Given the description of an element on the screen output the (x, y) to click on. 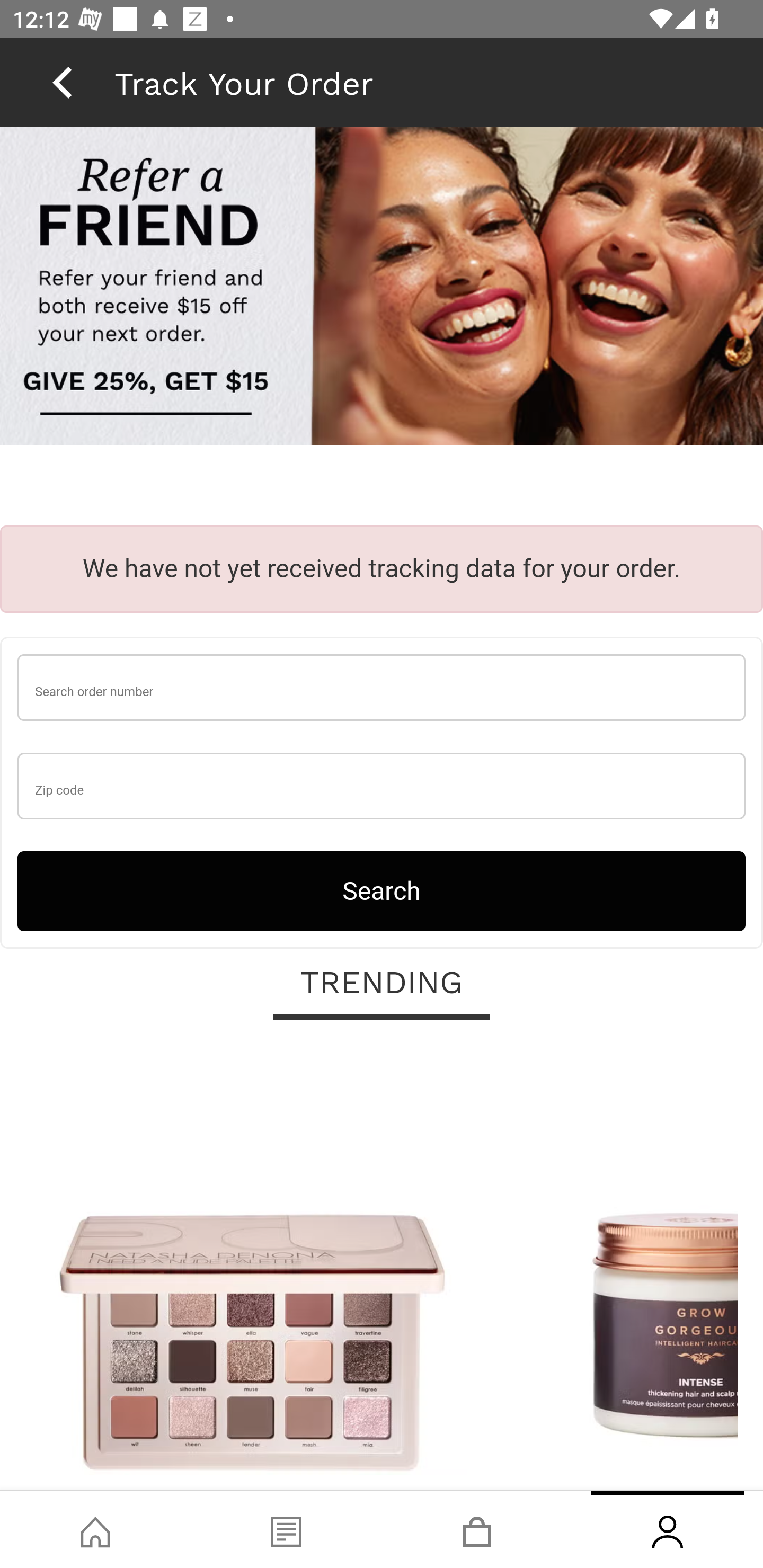
back (61, 82)
raf (381, 288)
Search (381, 890)
TRENDING (381, 983)
Natasha Denona I Need A Nude Palette (252, 1266)
Shop, tab, 1 of 4 (95, 1529)
Blog, tab, 2 of 4 (285, 1529)
Basket, tab, 3 of 4 (476, 1529)
Account, tab, 4 of 4 (667, 1529)
